Given the description of an element on the screen output the (x, y) to click on. 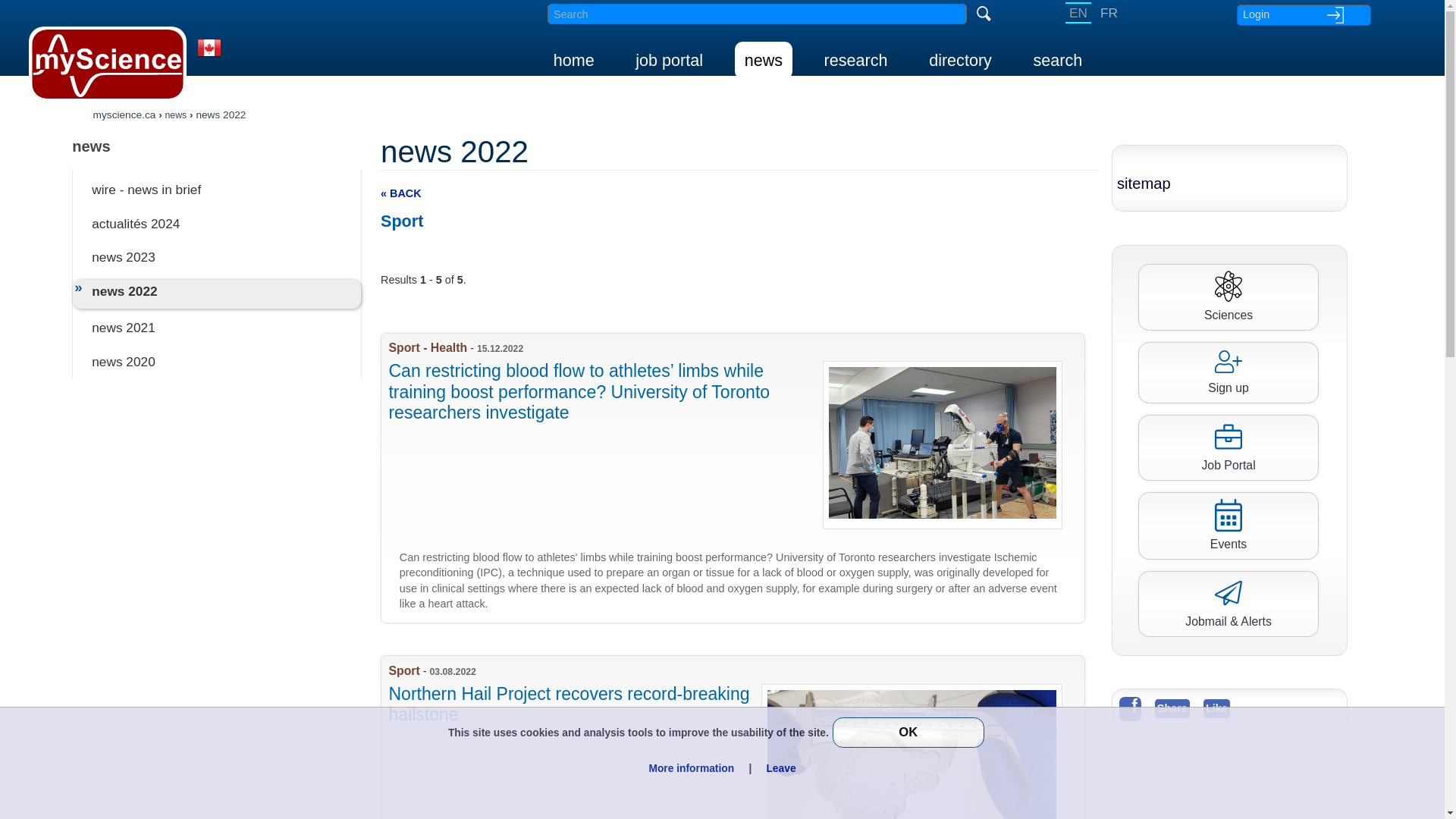
directory (959, 59)
Login (1303, 14)
job portal (669, 59)
myscience.ca (124, 114)
research (855, 59)
FR (1108, 12)
news (763, 59)
Search in myscience.ca (756, 14)
About myscience.ca (208, 57)
home (573, 59)
myScience Home (107, 63)
EN (1077, 12)
English (1077, 12)
search (1057, 59)
